Given the description of an element on the screen output the (x, y) to click on. 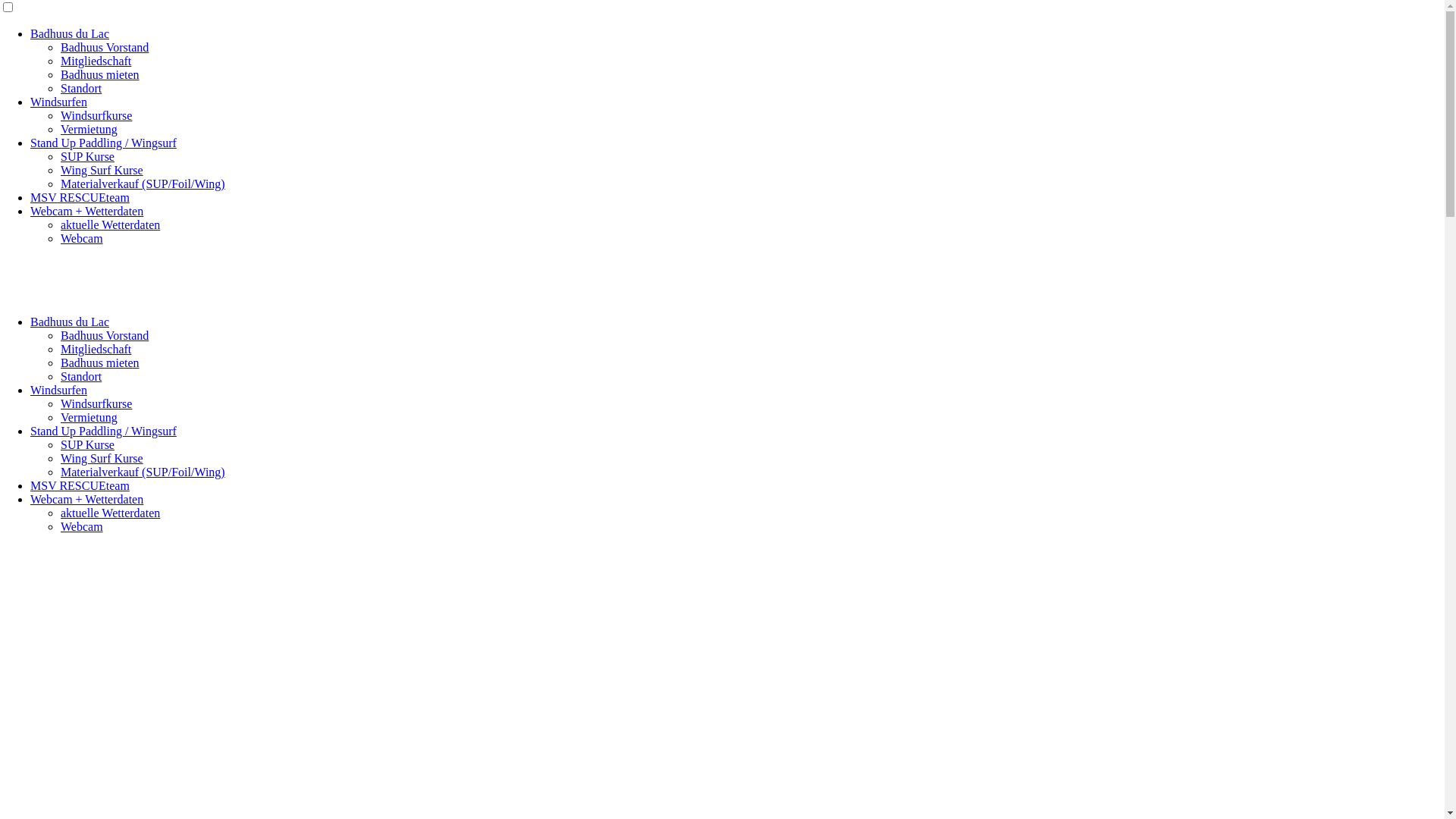
Badhuus du Lac Element type: text (69, 33)
SUP Kurse Element type: text (87, 156)
MSV RESCUEteam Element type: text (79, 197)
Badhuus Vorstand Element type: text (104, 335)
Wing Surf Kurse Element type: text (101, 457)
Badhuus mieten Element type: text (99, 362)
Materialverkauf (SUP/Foil/Wing) Element type: text (142, 471)
Vermietung Element type: text (88, 128)
Webcam Element type: text (81, 526)
Wing Surf Kurse Element type: text (101, 169)
aktuelle Wetterdaten Element type: text (110, 224)
Stand Up Paddling / Wingsurf Element type: text (103, 142)
Windsurfkurse Element type: text (95, 115)
aktuelle Wetterdaten Element type: text (110, 512)
Windsurfen Element type: text (58, 389)
Stand Up Paddling / Wingsurf Element type: text (103, 430)
Materialverkauf (SUP/Foil/Wing) Element type: text (142, 183)
Standort Element type: text (80, 87)
SUP Kurse Element type: text (87, 444)
Mitgliedschaft Element type: text (95, 348)
Badhuus mieten Element type: text (99, 74)
Webcam Element type: text (81, 238)
Webcam + Wetterdaten Element type: text (86, 210)
Webcam + Wetterdaten Element type: text (86, 498)
Vermietung Element type: text (88, 417)
MSV RESCUEteam Element type: text (79, 485)
Windsurfen Element type: text (58, 101)
Windsurfkurse Element type: text (95, 403)
Badhuus Vorstand Element type: text (104, 46)
Mitgliedschaft Element type: text (95, 60)
Standort Element type: text (80, 376)
Badhuus du Lac Element type: text (69, 321)
